Given the description of an element on the screen output the (x, y) to click on. 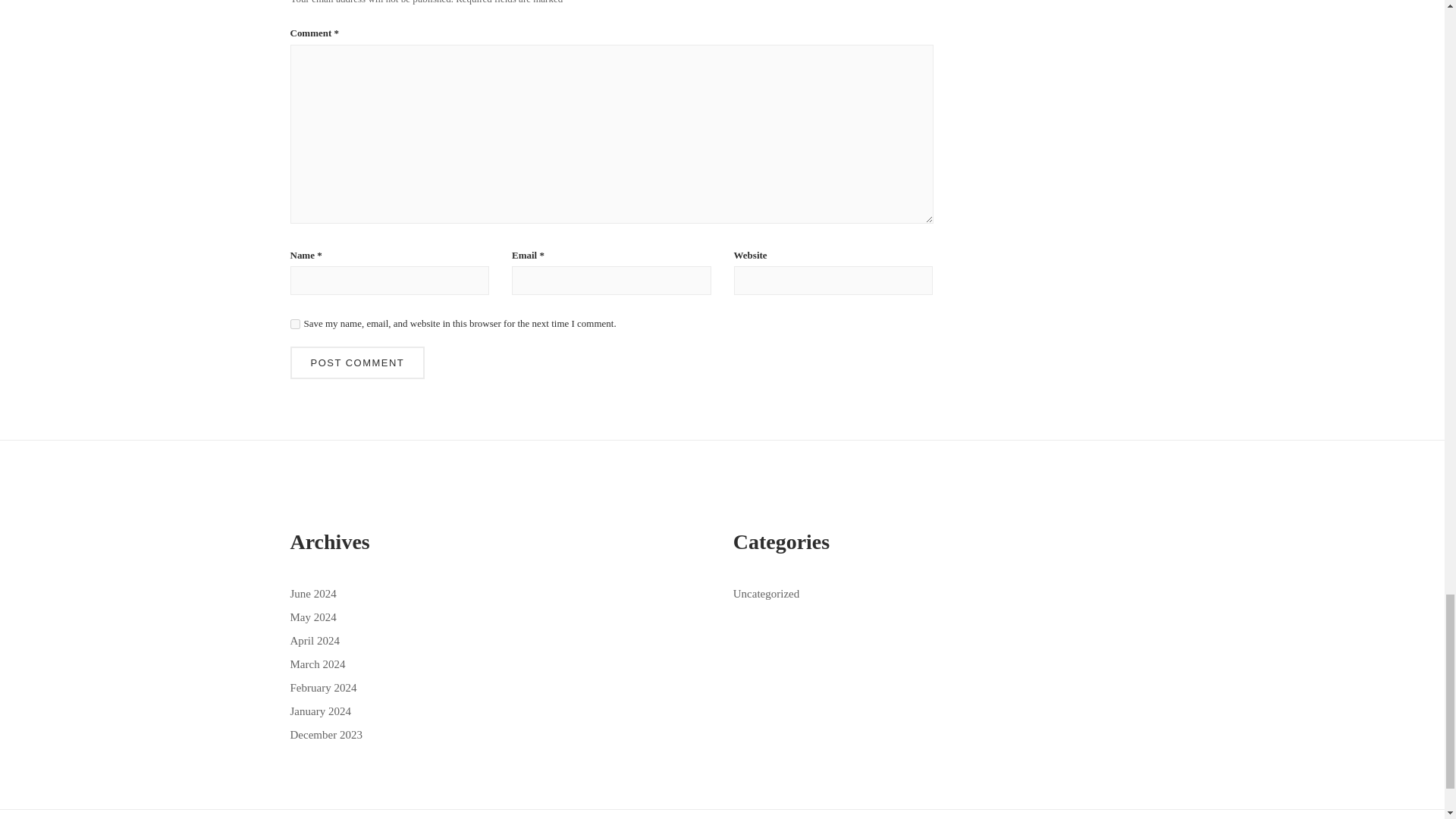
March 2024 (317, 664)
February 2024 (322, 687)
Uncategorized (766, 593)
May 2024 (312, 616)
Post Comment (357, 362)
June 2024 (312, 593)
yes (294, 324)
April 2024 (314, 640)
January 2024 (319, 711)
December 2023 (325, 734)
Post Comment (357, 362)
